Given the description of an element on the screen output the (x, y) to click on. 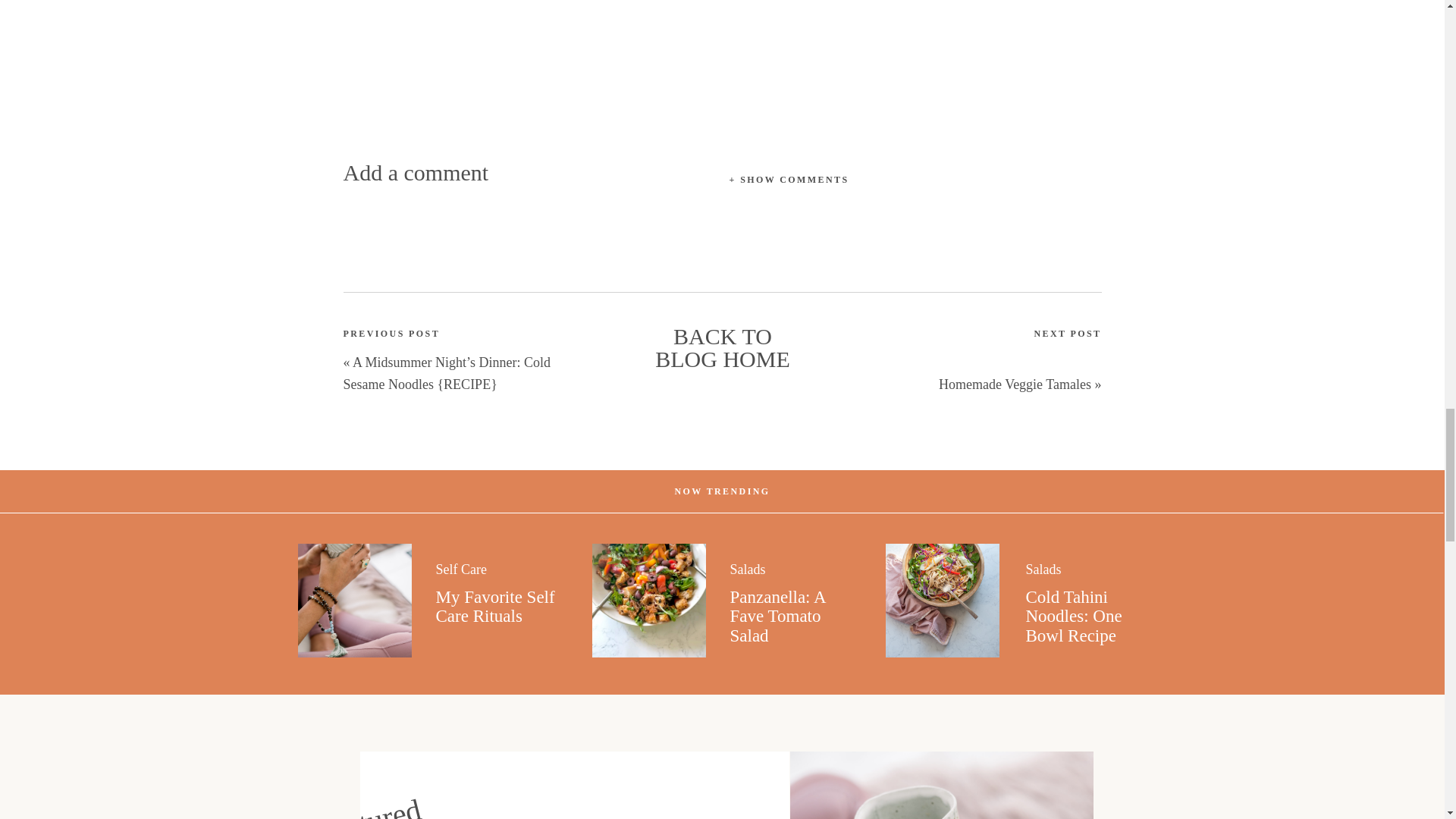
Panzanella: A Fave Tomato Salad (777, 616)
My Favorite Self Care Rituals (494, 606)
Homemade Veggie Tamales (1014, 384)
Cold Tahini Noodles: One Bowl Recipe (1073, 616)
Cold Tahini Noodles: One Bowl Recipe (941, 600)
Salads (747, 569)
Panzanella: A Fave Tomato Salad (647, 600)
Self Care (460, 569)
NOW TRENDING (722, 489)
My Favorite Self Care Rituals (353, 600)
